Given the description of an element on the screen output the (x, y) to click on. 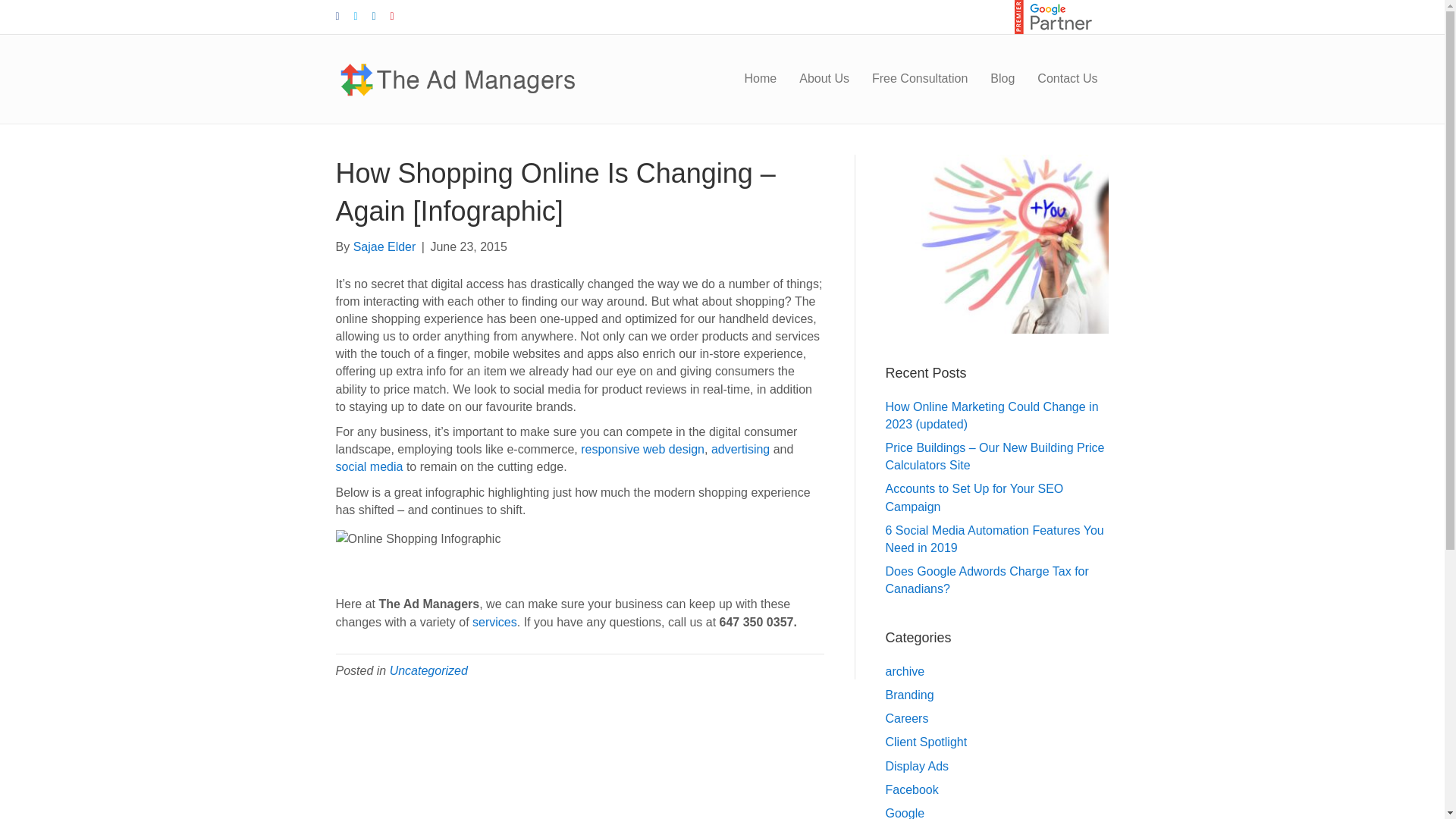
Careers (906, 717)
Youtube (398, 15)
social media (368, 466)
Sajae Elder (384, 246)
6 Social Media Automation Features You Need in 2019 (994, 539)
Home (761, 78)
services (493, 621)
Google (904, 812)
Uncategorized (428, 670)
Free Consultation (919, 78)
Accounts to Set Up for Your SEO Campaign (974, 497)
Blog (1002, 78)
Does Google Adwords Charge Tax for Canadians? (987, 580)
responsive web design (641, 449)
About Us (823, 78)
